Given the description of an element on the screen output the (x, y) to click on. 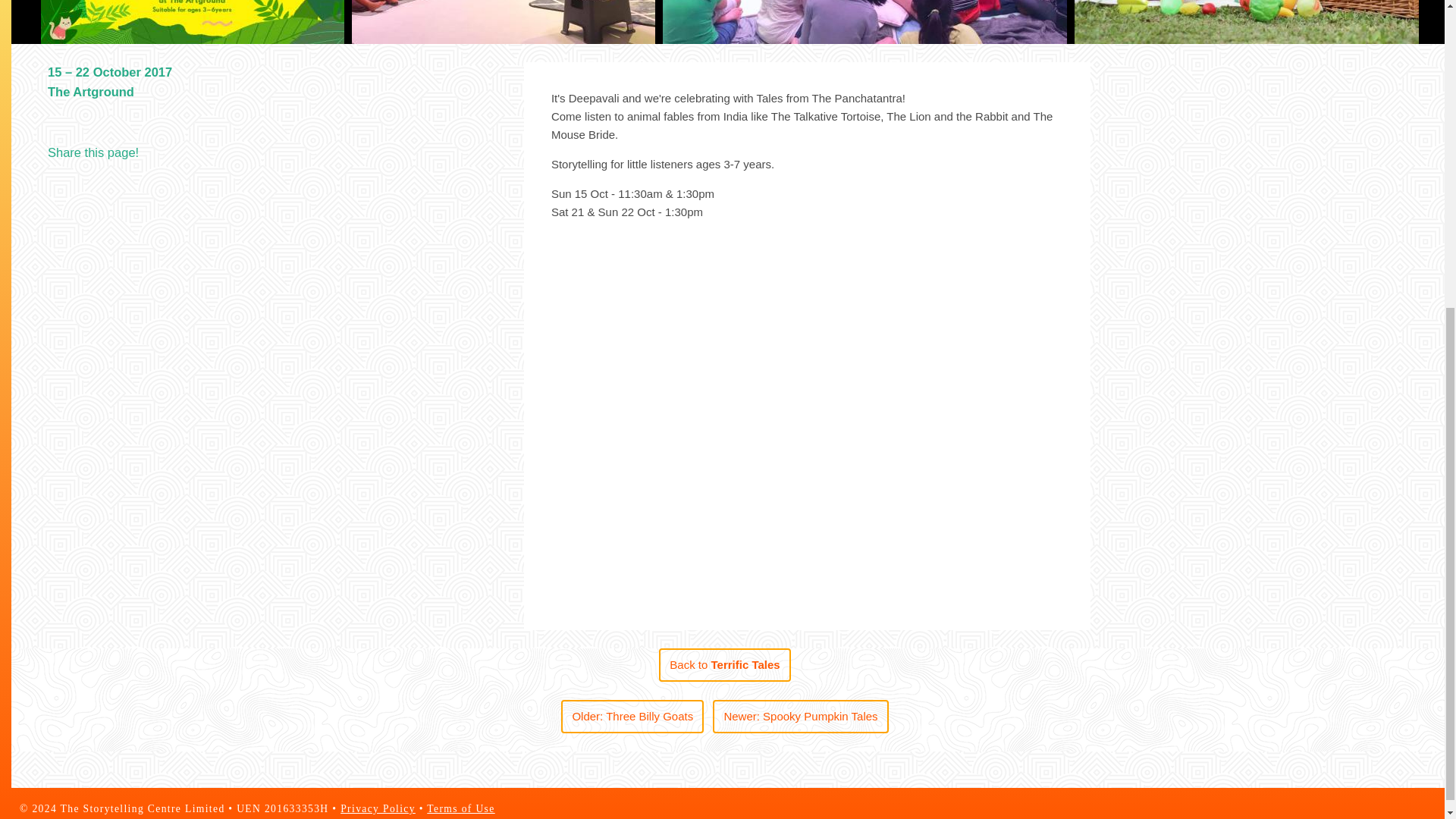
Older: Three Billy Goats (631, 716)
Terms of Use (460, 808)
Newer: Spooky Pumpkin Tales (800, 716)
Privacy Policy (377, 808)
Back to Terrific Tales (724, 664)
